Given the description of an element on the screen output the (x, y) to click on. 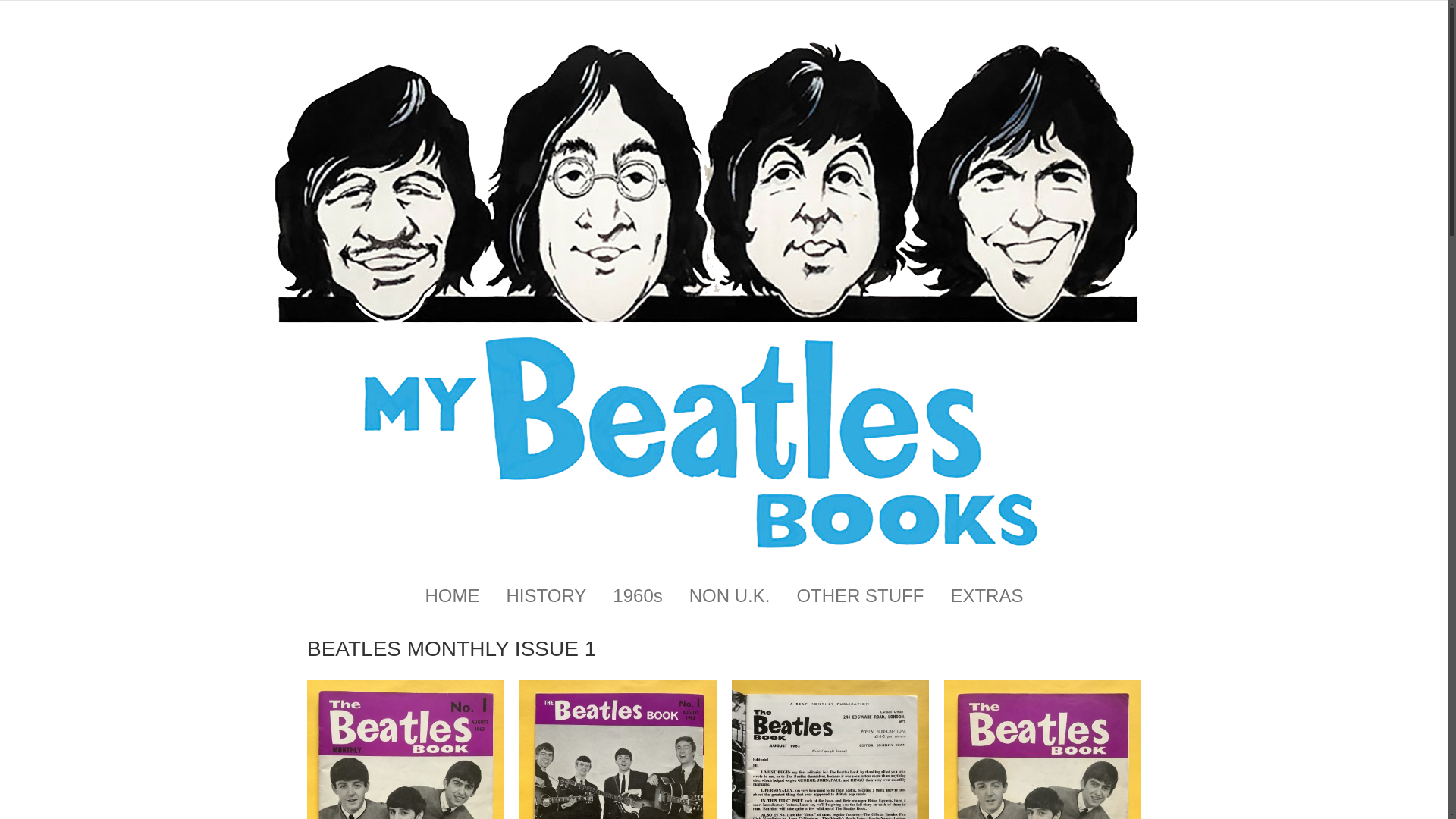
NON U.K. (729, 594)
284A9E05-6F32-4705-8F67-8FFAED651A04 (617, 749)
OTHER STUFF (859, 594)
9AB74433-DA7A-4E6C-9036-A26C49EF88FB (830, 749)
838B4380-19A0-4EEB-8F2D-77BD0C30058F (1042, 749)
3F06849A-99A3-48AA-B25D-09B5D80DFBA4 (405, 749)
1960s (637, 594)
EXTRAS (986, 594)
HOME (452, 594)
HISTORY (546, 594)
